Given the description of an element on the screen output the (x, y) to click on. 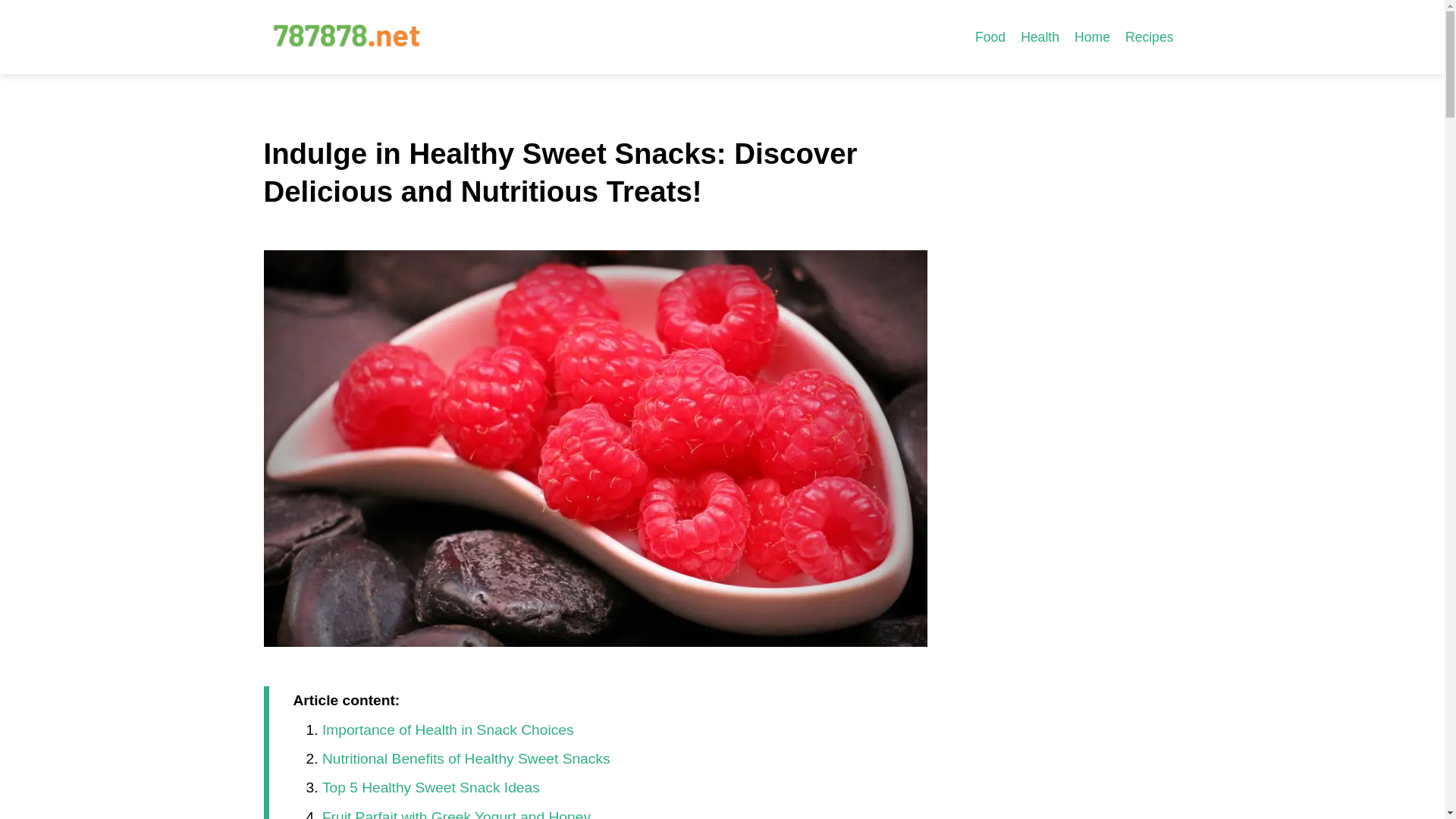
Recipes (1149, 36)
Health (1040, 36)
Nutritional Benefits of Healthy Sweet Snacks (465, 758)
Food (990, 36)
Importance of Health in Snack Choices (447, 729)
Top 5 Healthy Sweet Snack Ideas (430, 787)
Fruit Parfait with Greek Yogurt and Honey (456, 814)
Home (1092, 36)
